Given the description of an element on the screen output the (x, y) to click on. 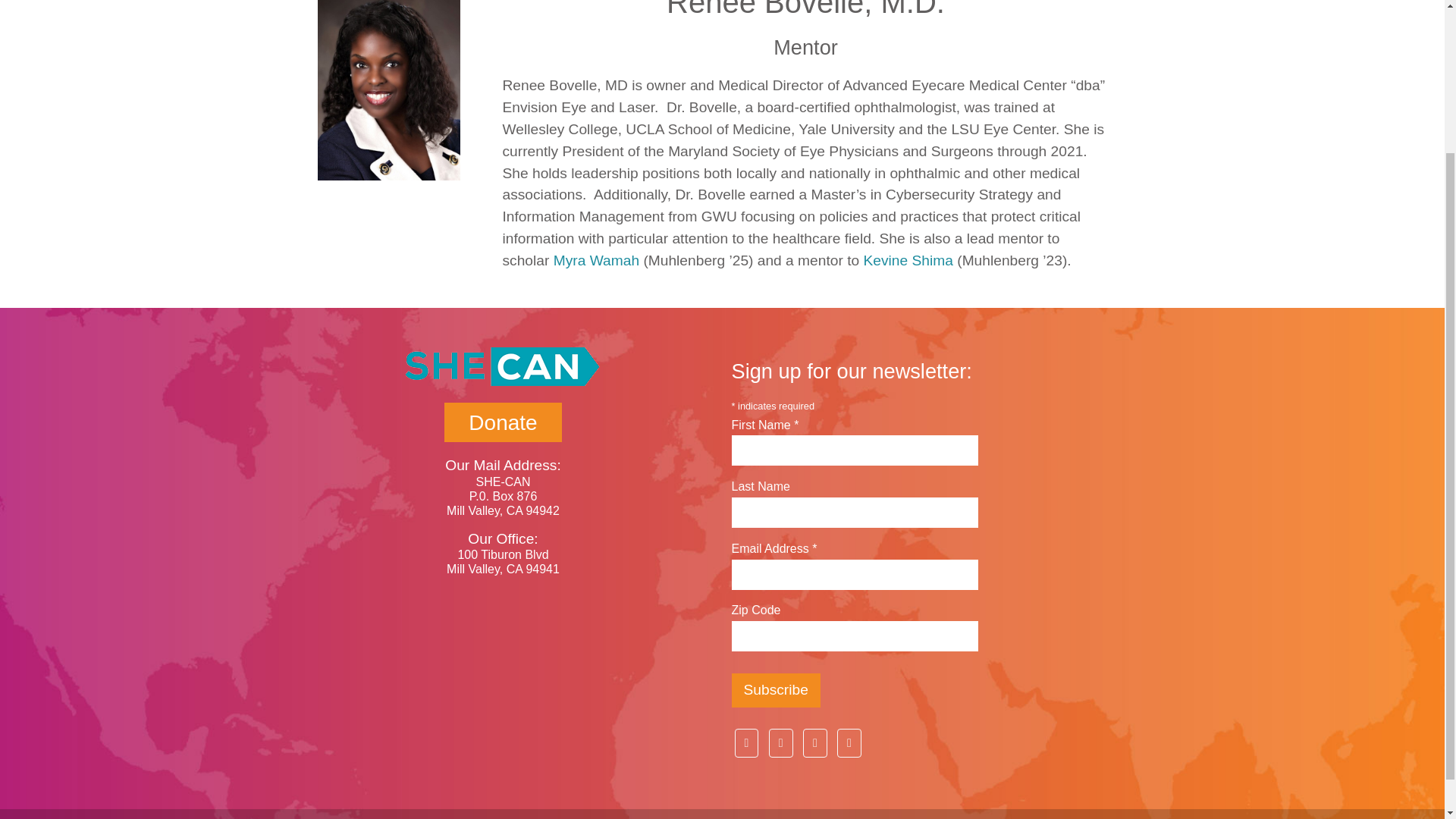
Subscribe (774, 690)
Myra Wamah (596, 260)
Donate (502, 422)
Subscribe (774, 690)
Kevine Shima (908, 260)
